Given the description of an element on the screen output the (x, y) to click on. 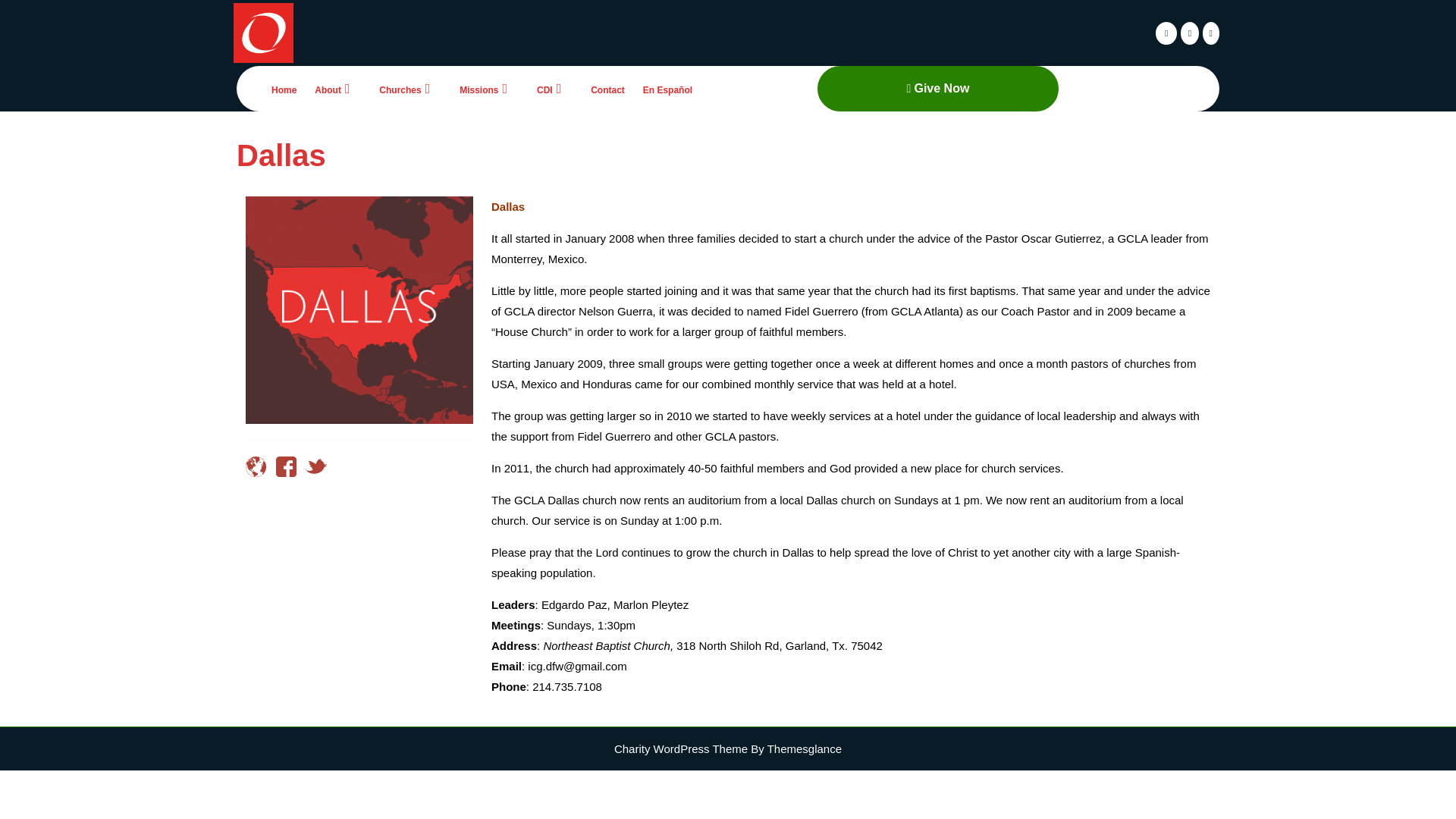
Missions (488, 89)
Churches (409, 89)
Instagram (1189, 31)
About (337, 89)
Home (283, 90)
Youtube (1211, 31)
Facebook (1166, 31)
